Given the description of an element on the screen output the (x, y) to click on. 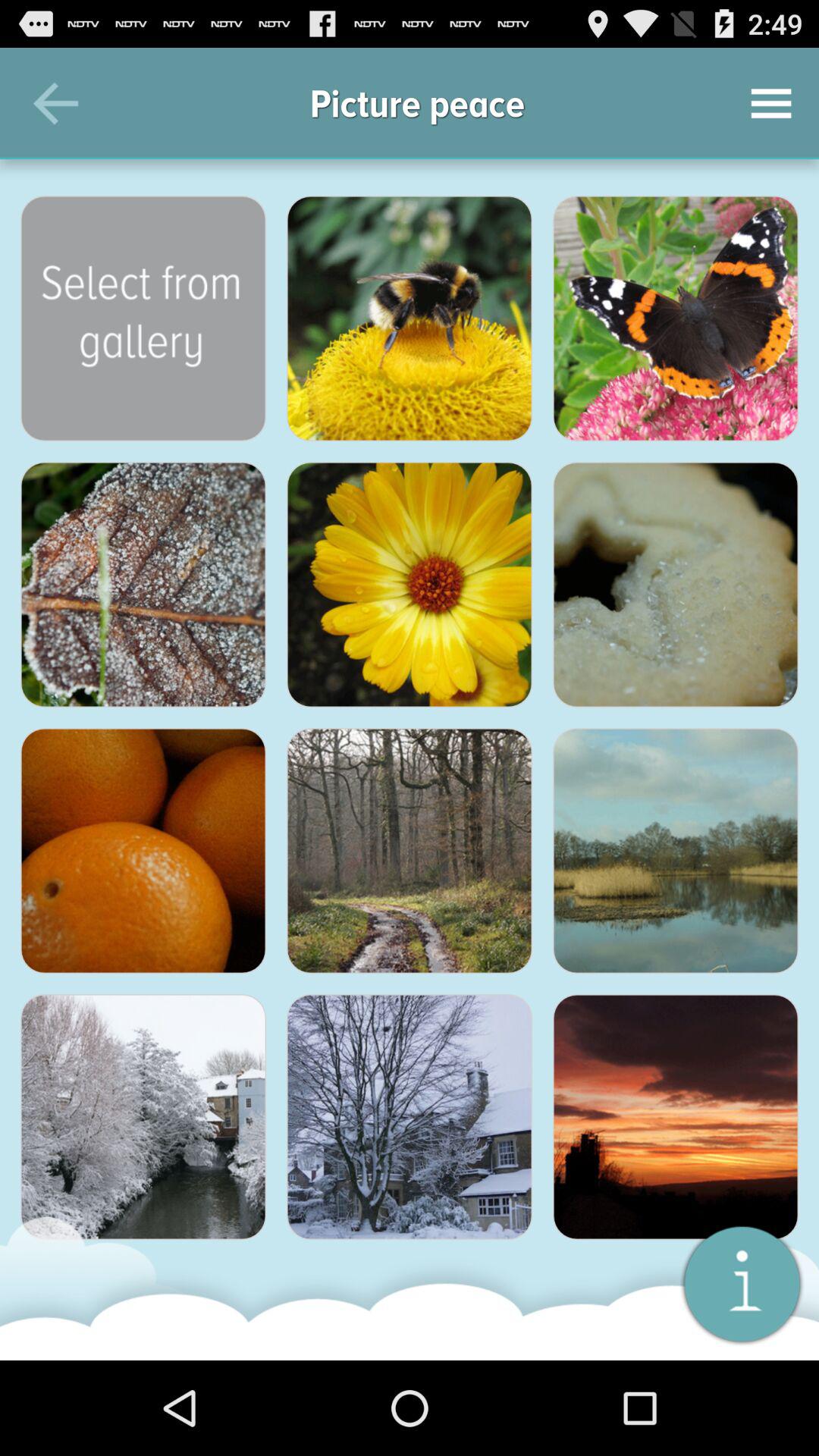
choose this picture (143, 1116)
